Given the description of an element on the screen output the (x, y) to click on. 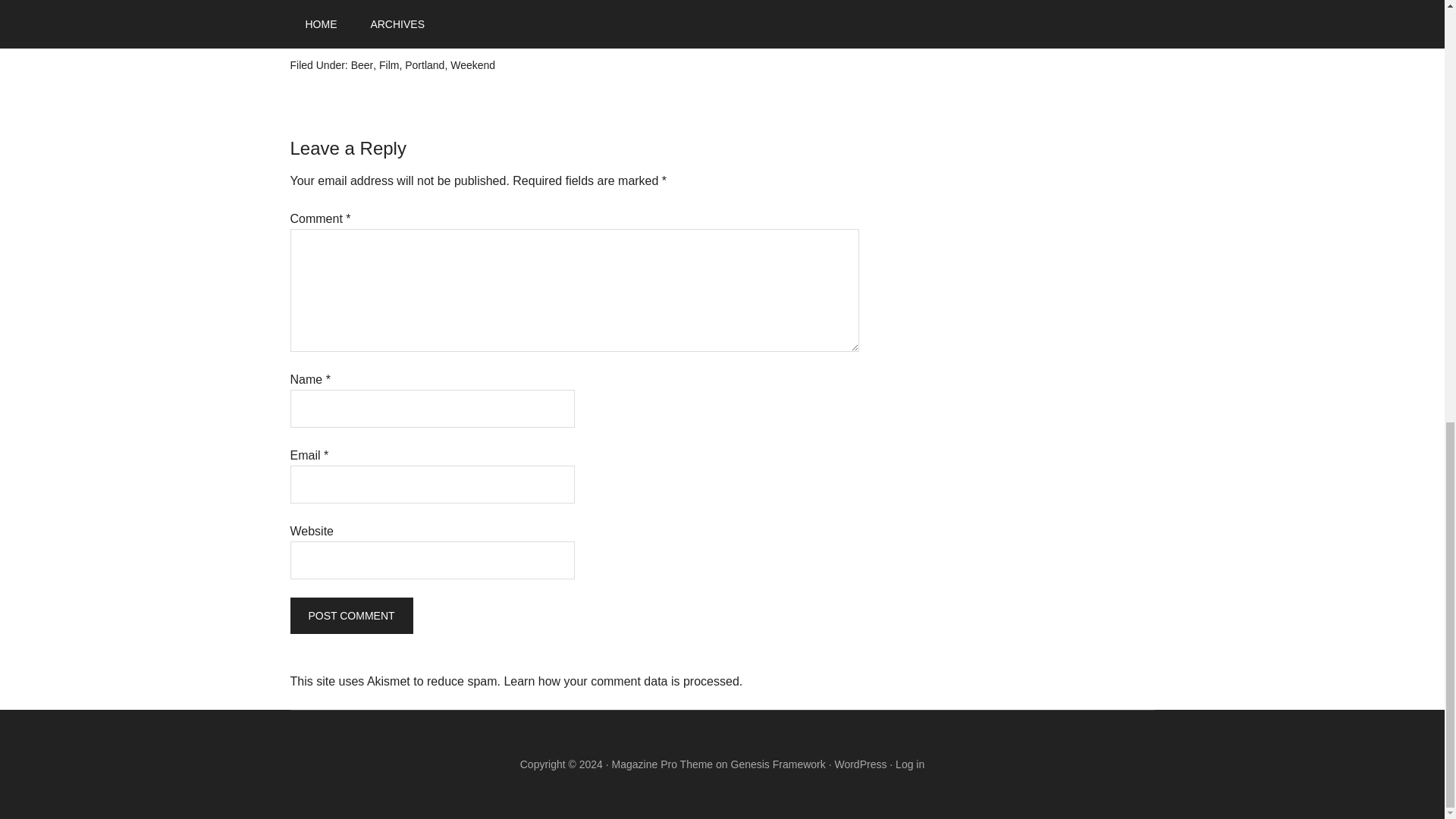
Weekend (472, 64)
Film (388, 64)
Learn how your comment data is processed (620, 680)
WordPress (860, 764)
Post Comment (350, 615)
Post Comment (350, 615)
Log in (909, 764)
Genesis Framework (777, 764)
Portland (424, 64)
Magazine Pro Theme (662, 764)
Bagdad Theater (424, 6)
Beer (362, 64)
